Given the description of an element on the screen output the (x, y) to click on. 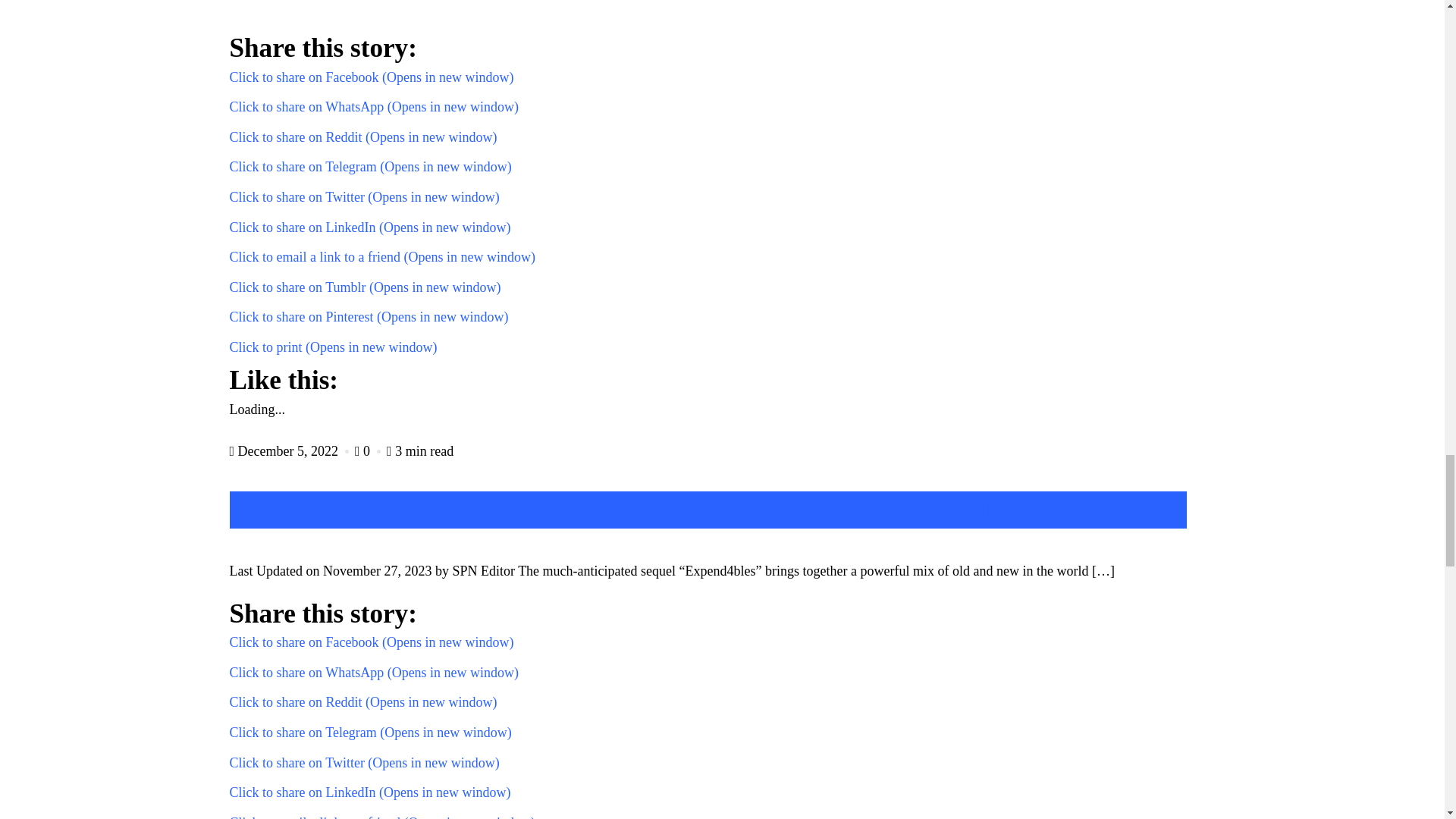
Click to share on WhatsApp (373, 106)
Click to share on Facebook (370, 77)
